Given the description of an element on the screen output the (x, y) to click on. 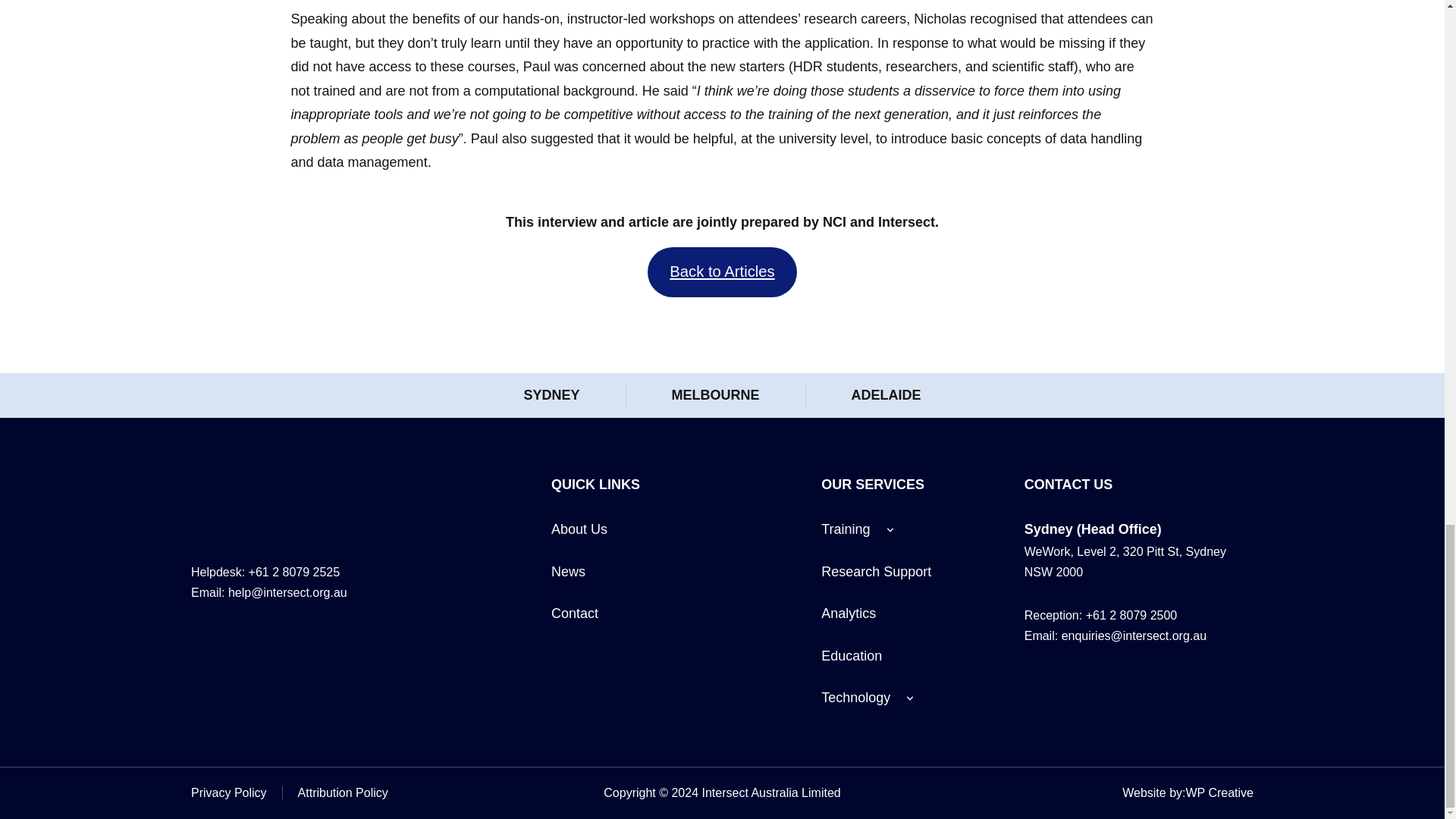
News (568, 571)
Research Support (876, 571)
MELBOURNE (715, 394)
Contact (574, 613)
SYDNEY (550, 394)
About Us (579, 529)
Analytics (848, 613)
Education (851, 656)
Training (845, 529)
Back to Articles (721, 271)
ADELAIDE (885, 394)
